Given the description of an element on the screen output the (x, y) to click on. 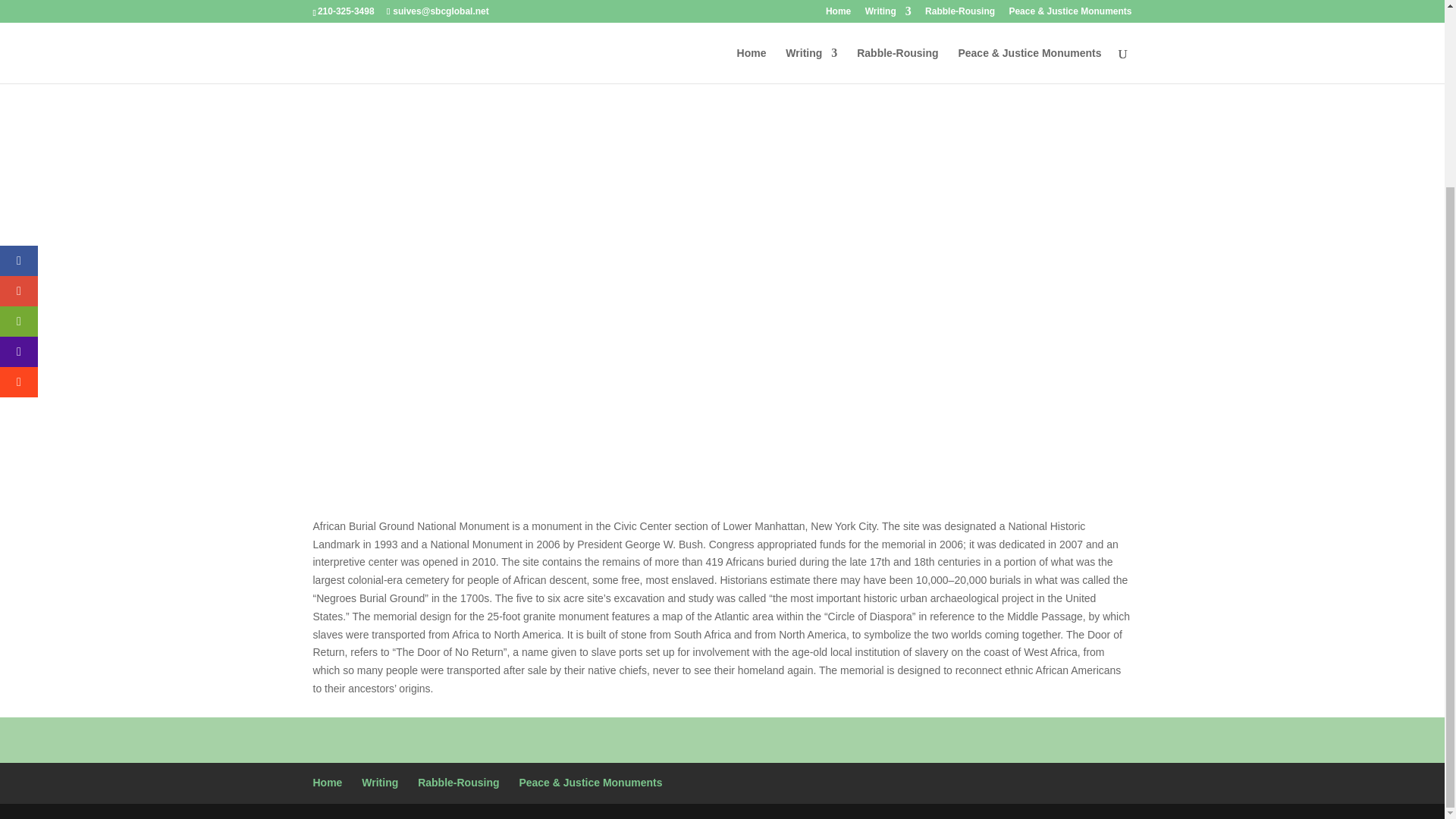
Rabble-Rousing (458, 782)
Home (327, 782)
Writing (379, 782)
